Given the description of an element on the screen output the (x, y) to click on. 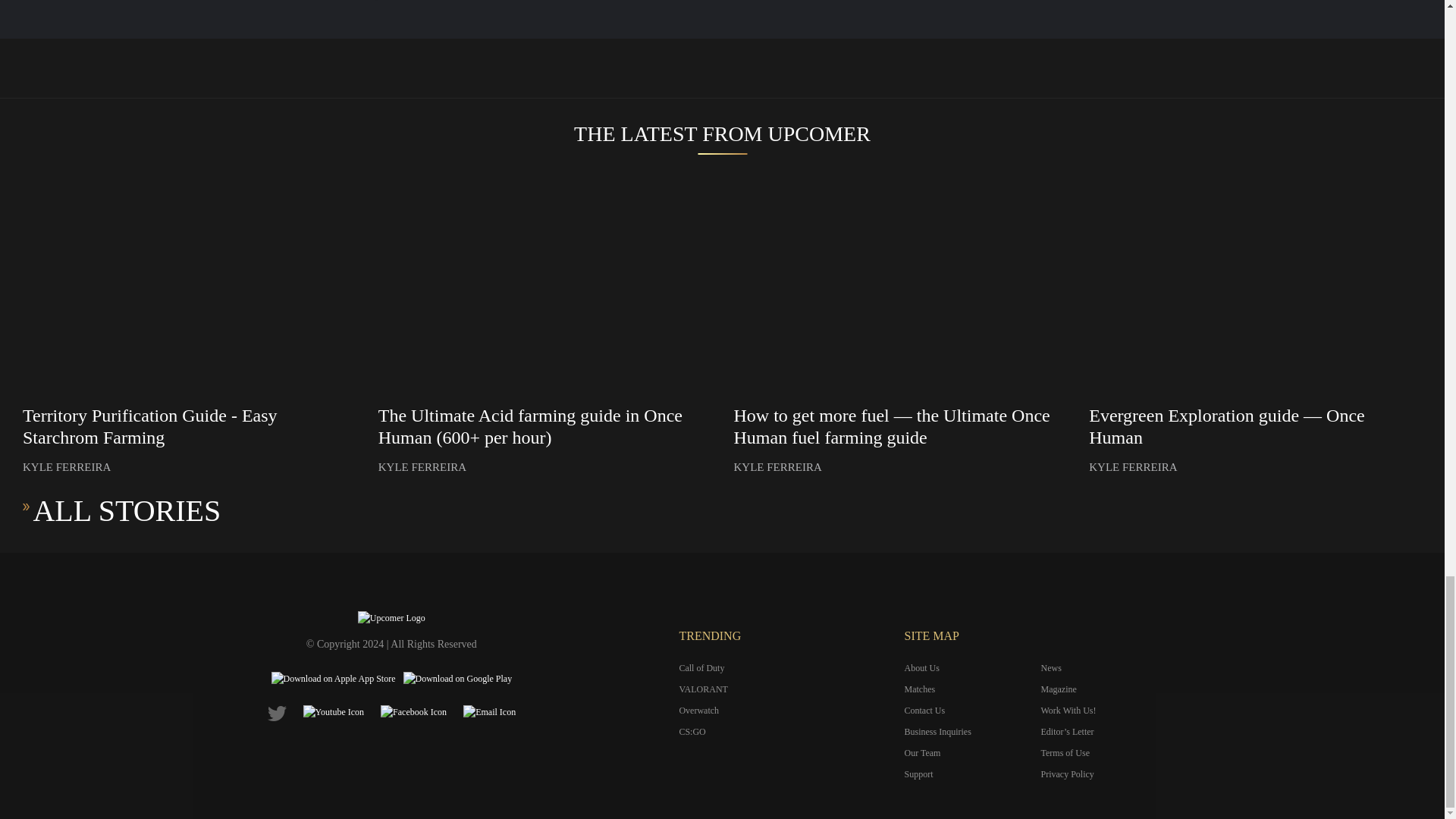
Upcomer Logo (391, 617)
